Given the description of an element on the screen output the (x, y) to click on. 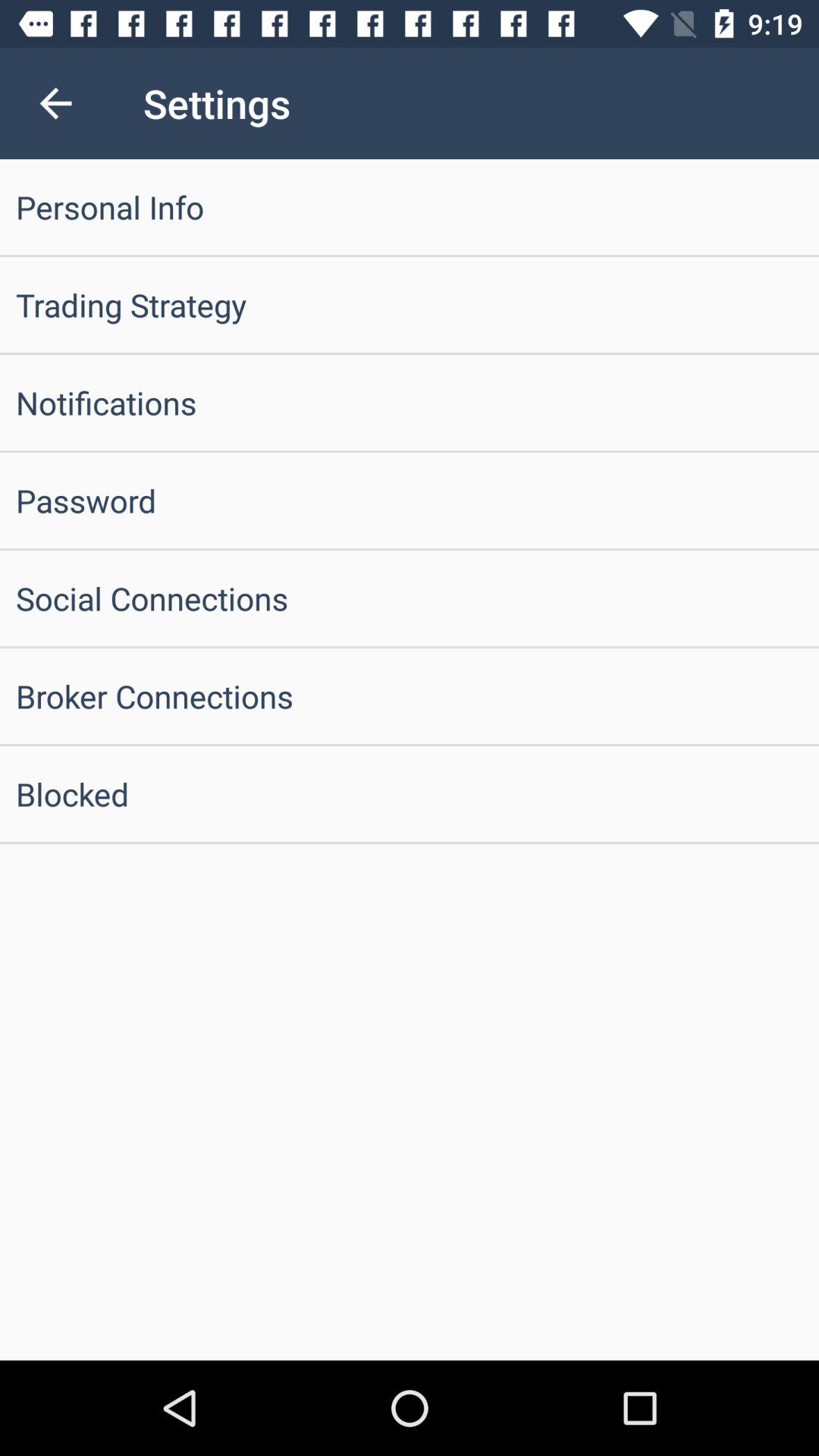
open icon next to settings icon (55, 103)
